Given the description of an element on the screen output the (x, y) to click on. 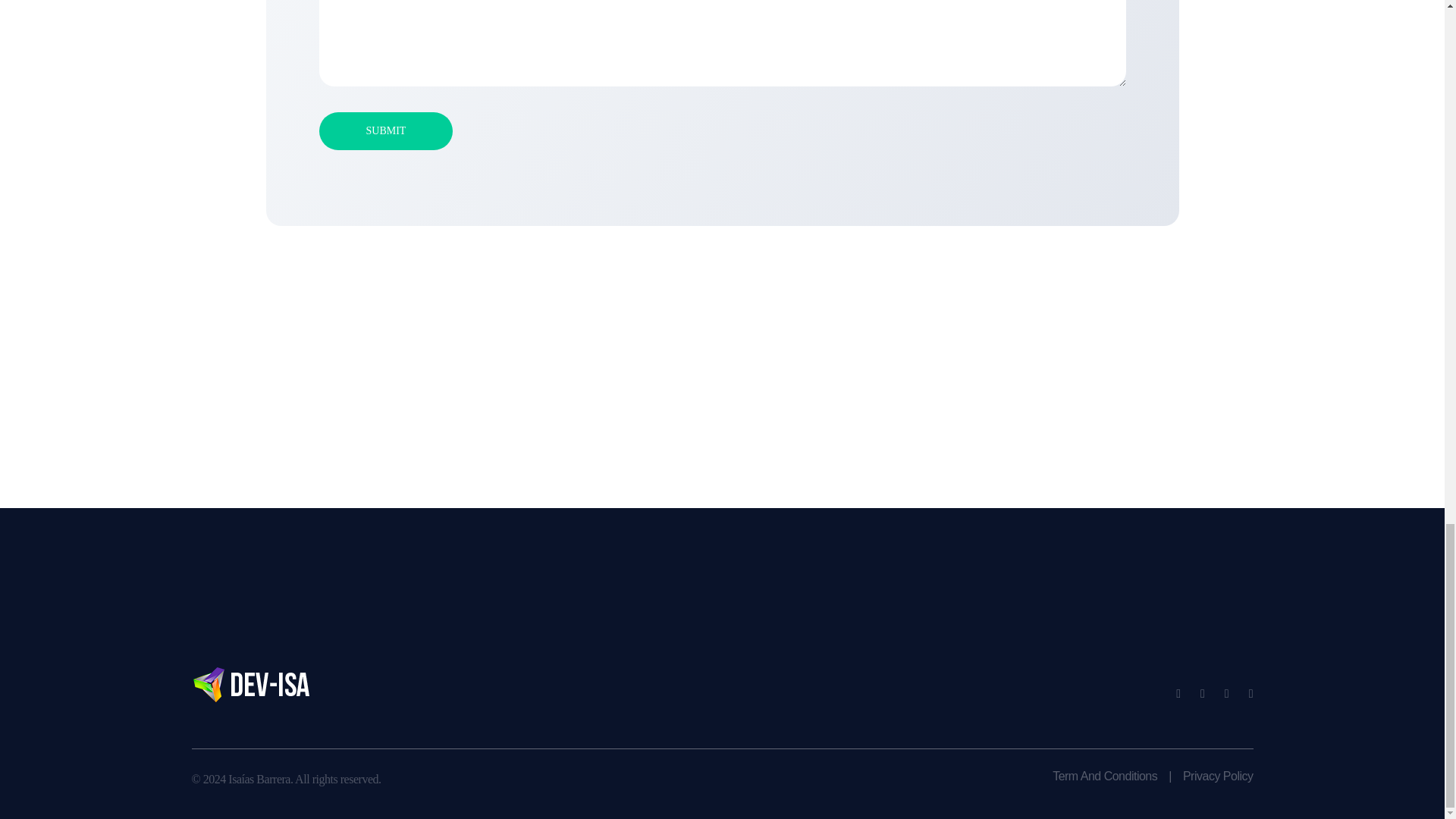
Privacy Policy (1212, 776)
Term And Conditions (1099, 776)
Submit (385, 130)
Submit (385, 130)
